Given the description of an element on the screen output the (x, y) to click on. 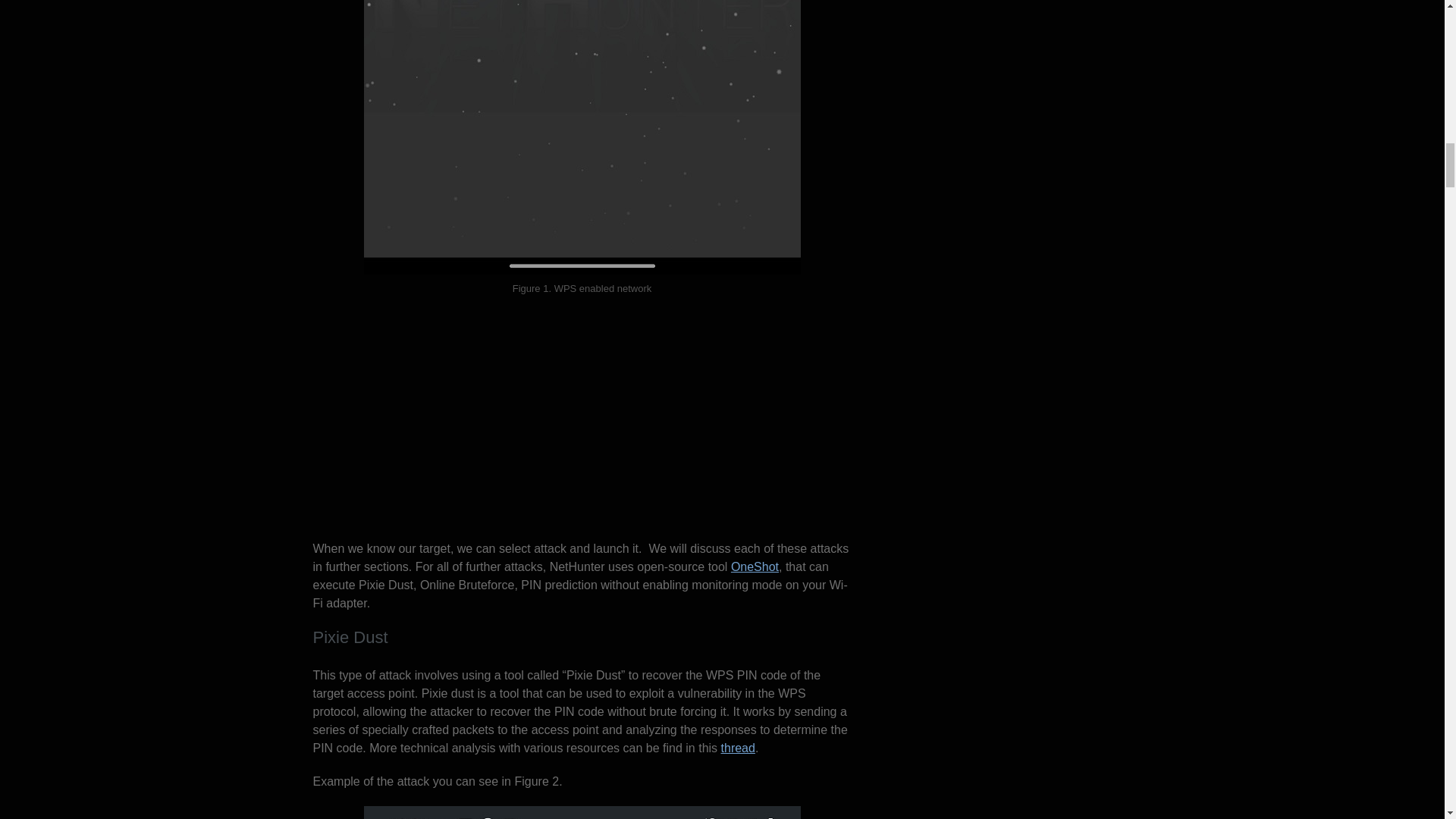
Advertisement (581, 426)
